Given the description of an element on the screen output the (x, y) to click on. 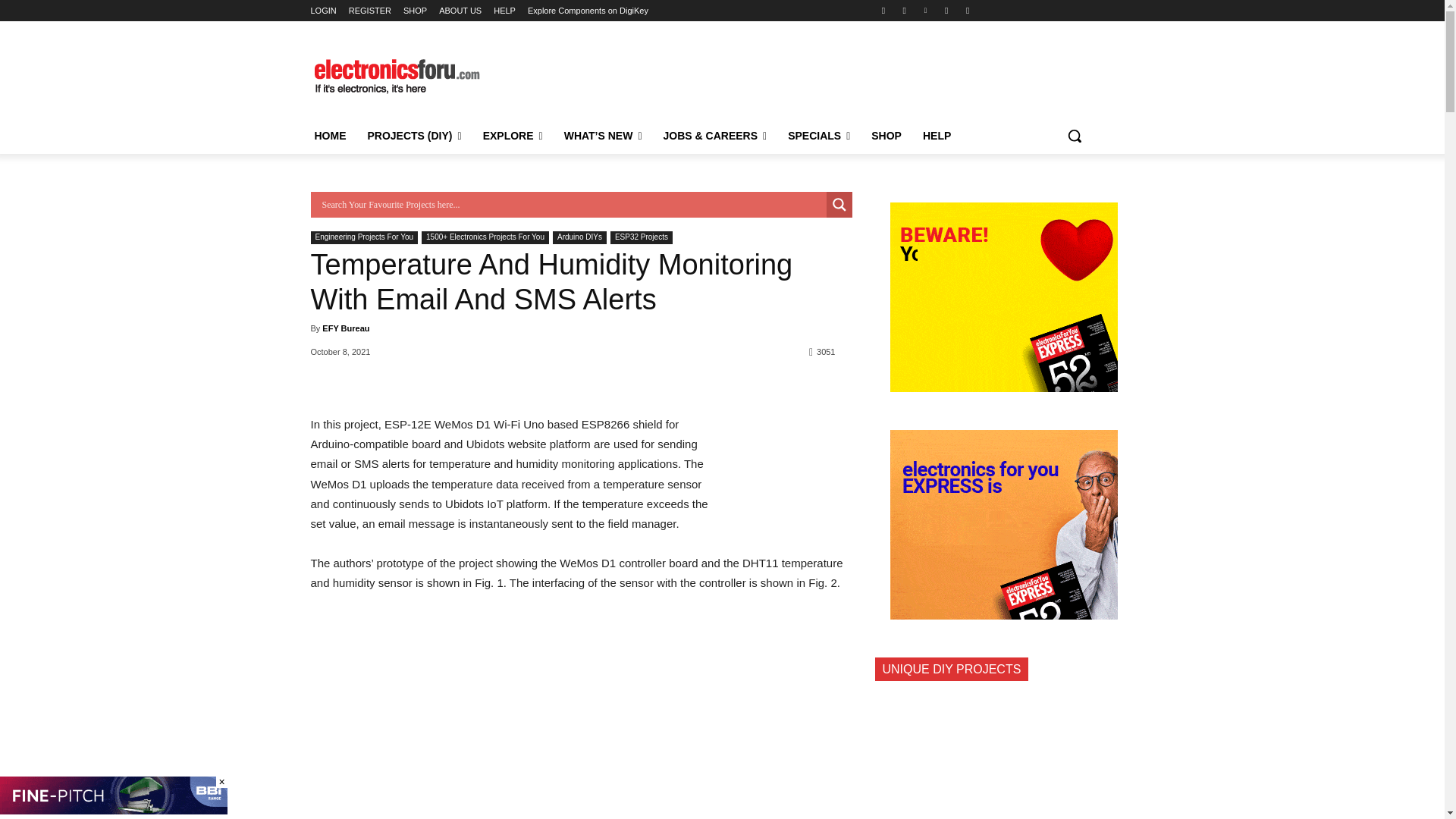
Instagram (903, 9)
Twitter (946, 9)
Linkedin (925, 9)
Youtube (967, 9)
Facebook (883, 9)
